Given the description of an element on the screen output the (x, y) to click on. 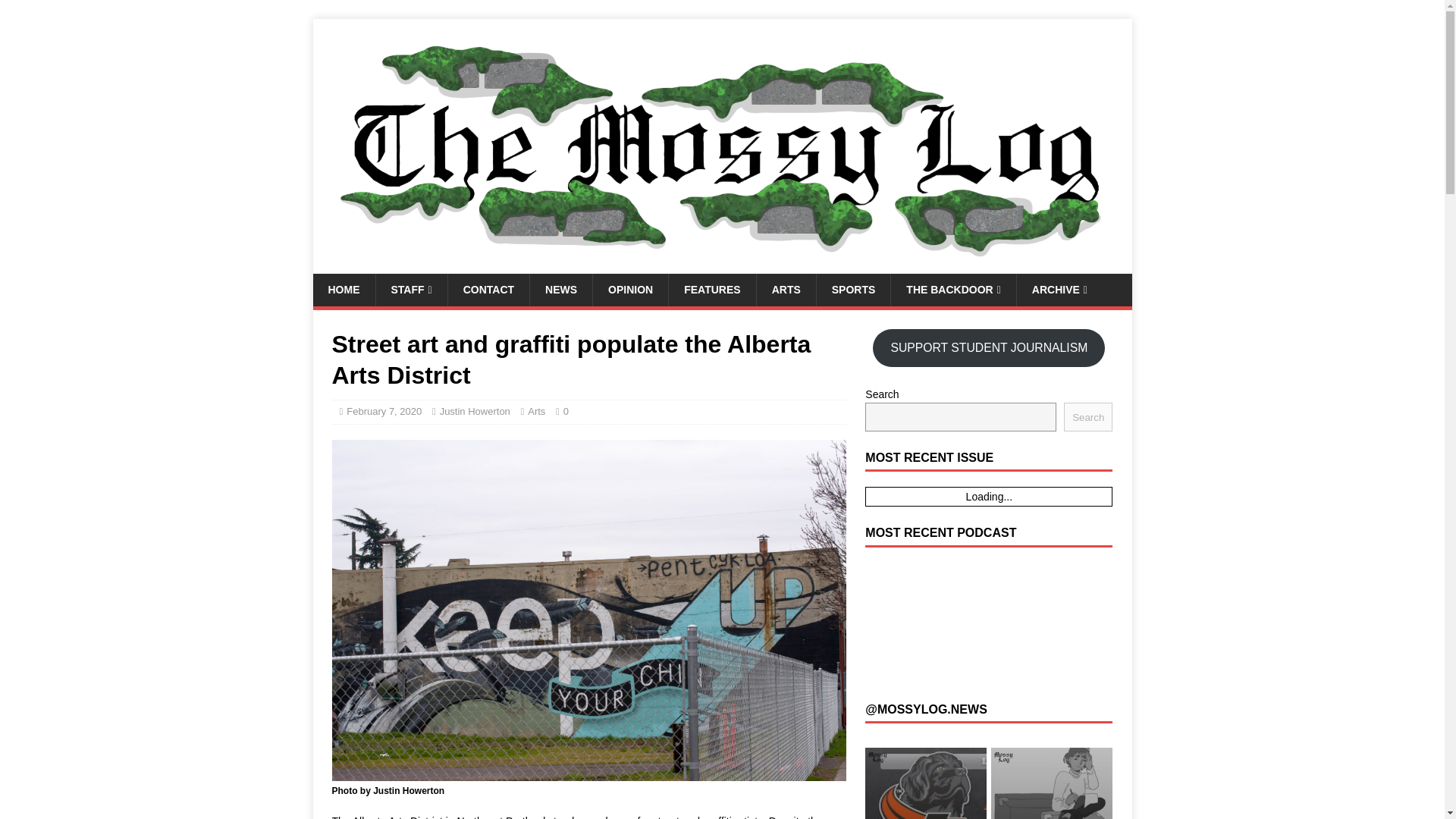
ARCHIVE (1059, 289)
OPINION (630, 289)
HOME (343, 289)
THE BACKDOOR (951, 289)
SPORTS (853, 289)
FEATURES (711, 289)
Arts (535, 410)
NEWS (560, 289)
CONTACT (487, 289)
February 7, 2020 (384, 410)
STAFF (410, 289)
Justin Howerton (475, 410)
ARTS (785, 289)
